Given the description of an element on the screen output the (x, y) to click on. 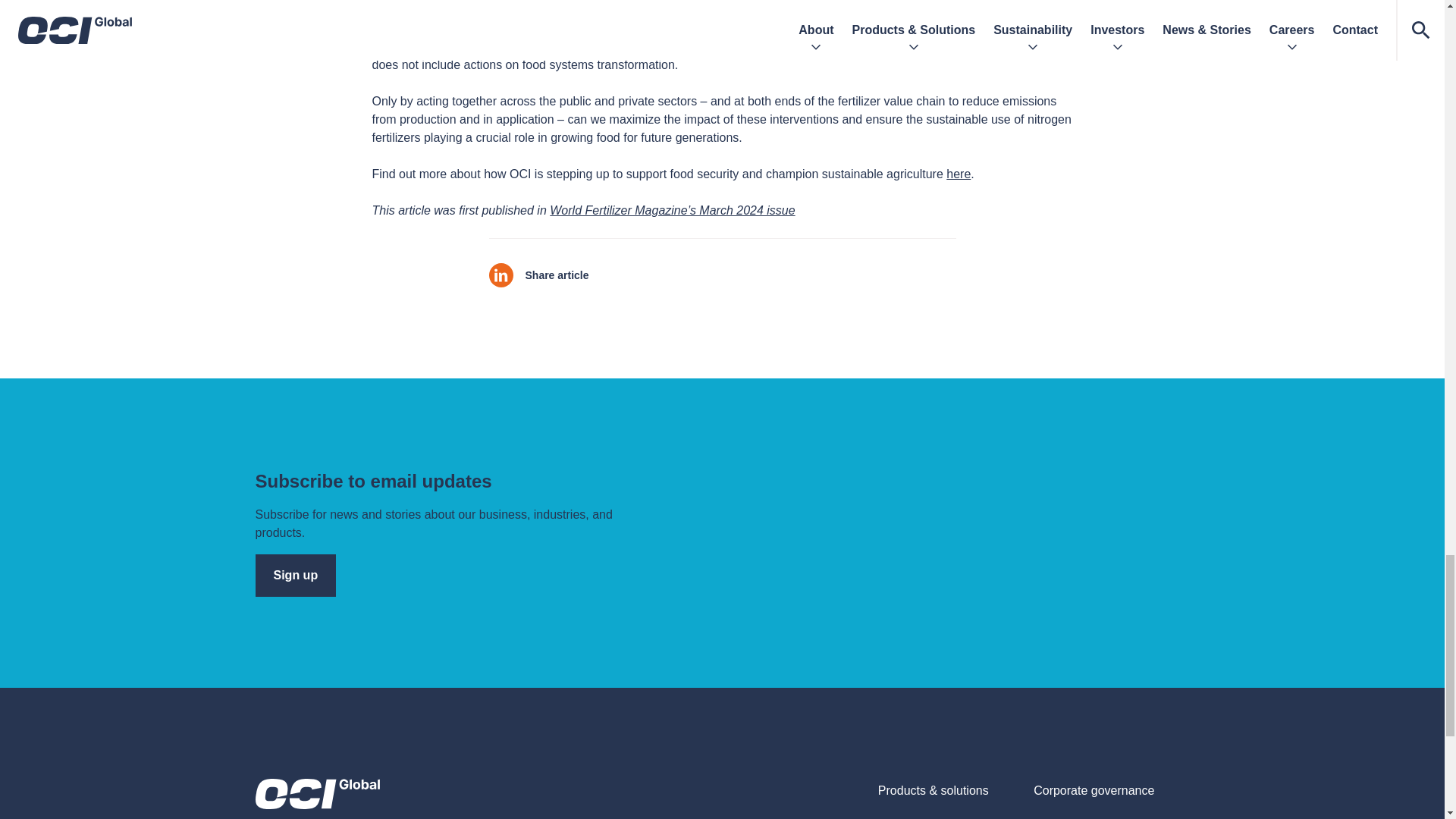
OCI N.V. (316, 793)
